Given the description of an element on the screen output the (x, y) to click on. 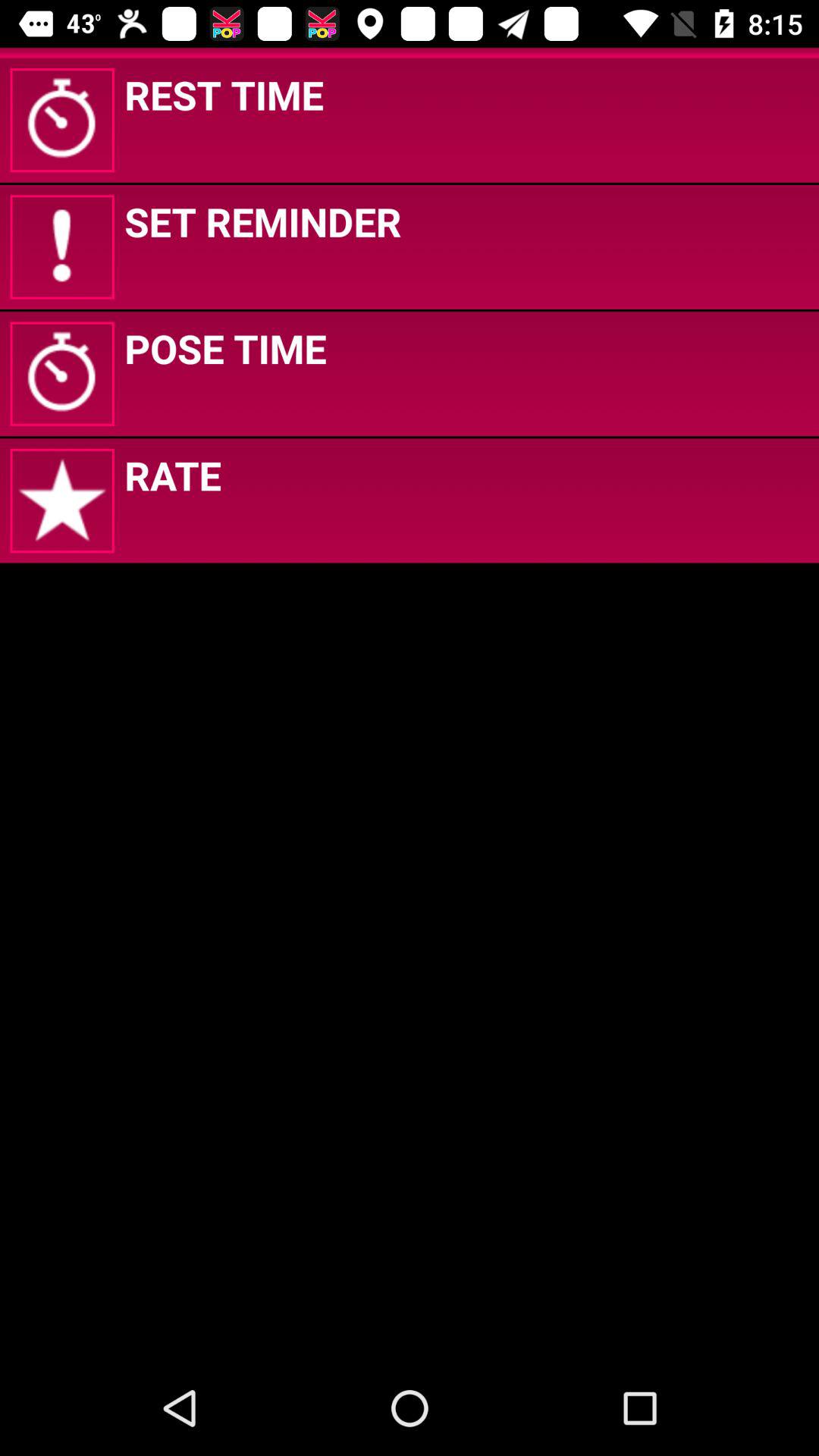
open app above the pose time (262, 221)
